Given the description of an element on the screen output the (x, y) to click on. 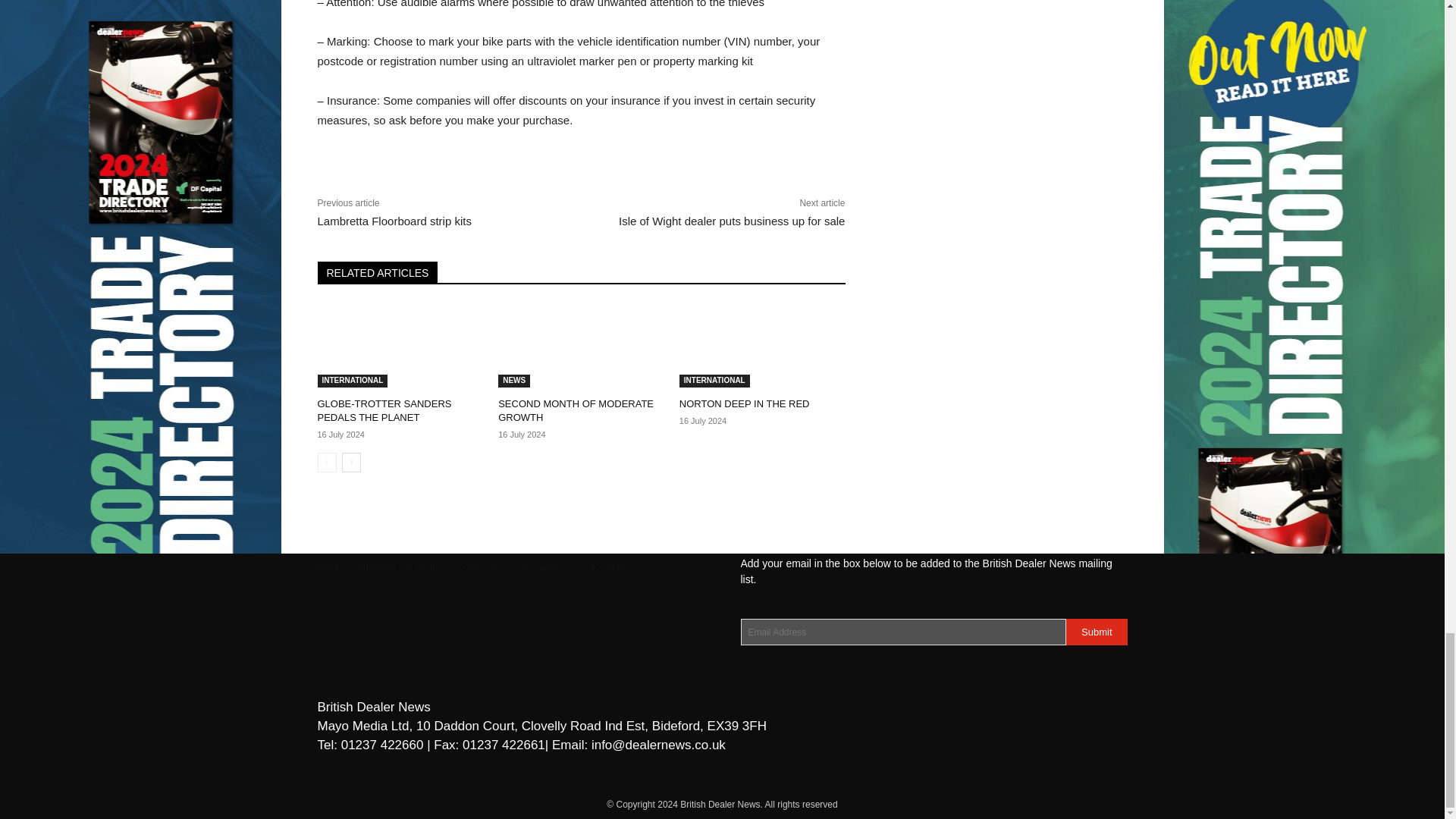
Submit (1095, 632)
